Given the description of an element on the screen output the (x, y) to click on. 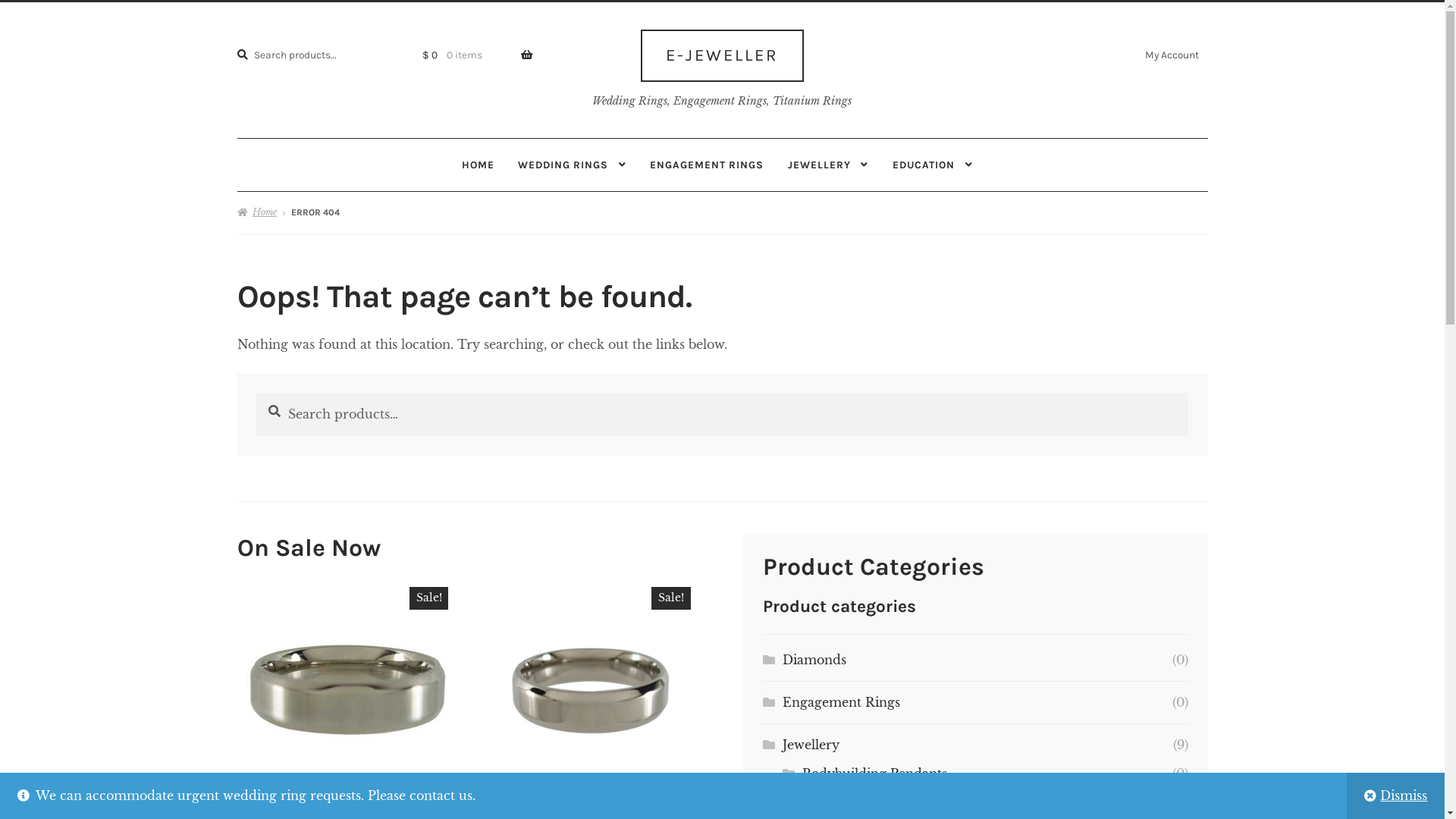
JEWELLERY Element type: text (827, 165)
WEDDING RINGS Element type: text (571, 165)
E-JEWELLER Element type: text (721, 55)
Sale! Element type: text (347, 687)
Skip to navigation Element type: text (574, 1)
HOME Element type: text (477, 165)
Search Element type: text (236, 39)
Custom Rings & Jewellery Element type: text (883, 790)
Engagement Rings Element type: text (841, 701)
My Account Element type: text (1171, 54)
Search Element type: text (255, 392)
Home Element type: text (256, 211)
EDUCATION Element type: text (931, 165)
$ 0 0 items Element type: text (468, 54)
ENGAGEMENT RINGS Element type: text (707, 165)
Sale! Element type: text (590, 687)
Bodybuilding Pendants Element type: text (874, 773)
Jewellery Element type: text (810, 744)
Diamonds Element type: text (814, 659)
